Given the description of an element on the screen output the (x, y) to click on. 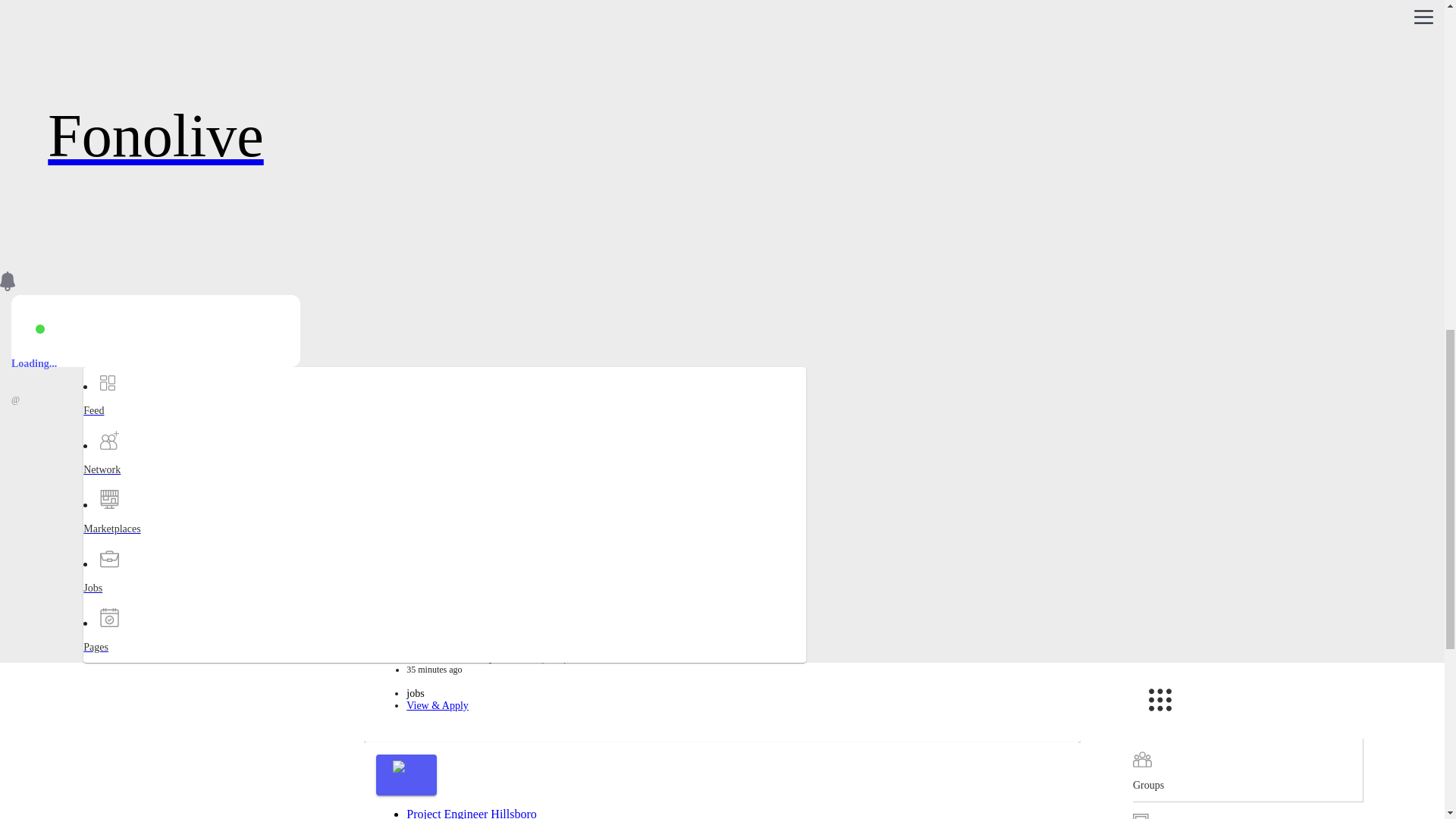
Articles (1247, 78)
CE Manager Hillsboro (461, 137)
My Paid Ads (1247, 23)
Ad Cart (1247, 142)
